Given the description of an element on the screen output the (x, y) to click on. 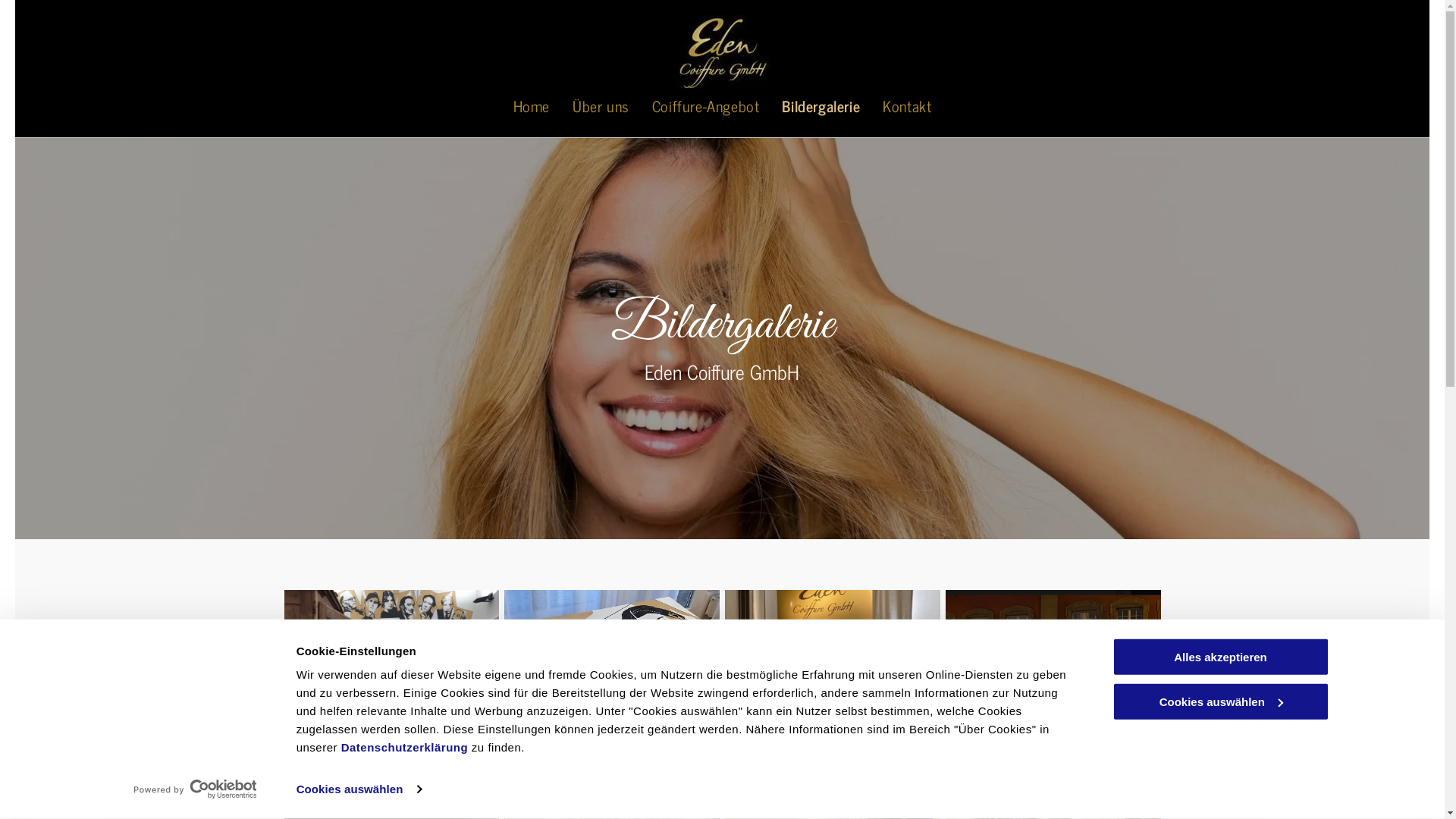
Kontakt Element type: text (906, 106)
Home Element type: text (531, 106)
Bildergalerie Element type: text (820, 106)
Coiffure-Angebot Element type: text (705, 106)
Alles akzeptieren Element type: text (1219, 656)
